Given the description of an element on the screen output the (x, y) to click on. 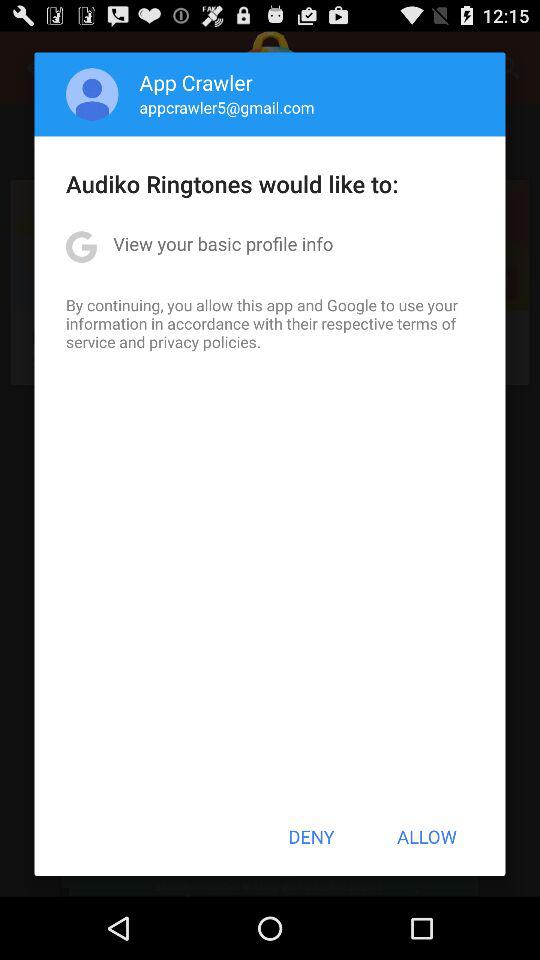
launch appcrawler5@gmail.com (226, 107)
